Given the description of an element on the screen output the (x, y) to click on. 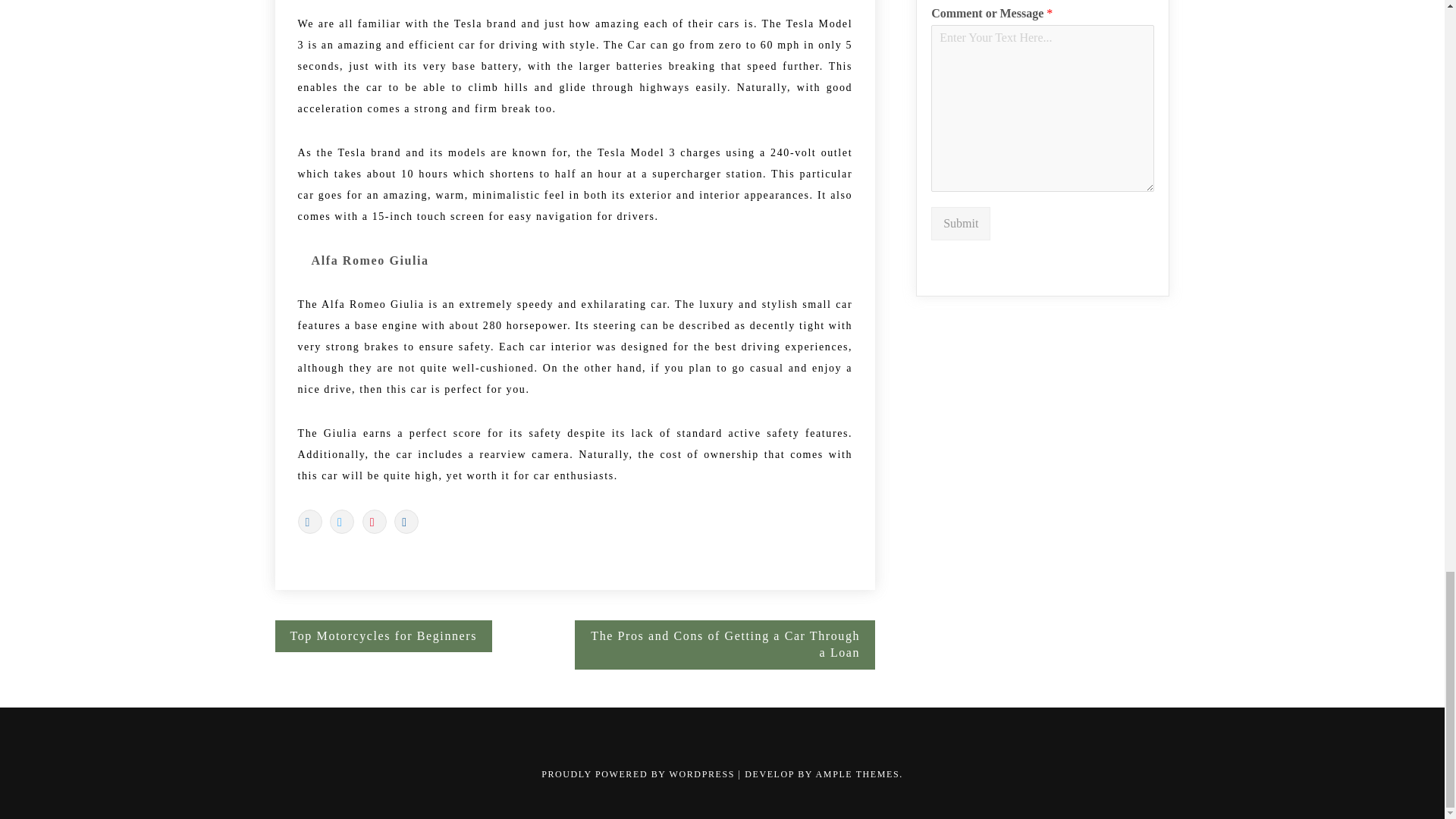
Top Motorcycles for Beginners (383, 635)
AMPLE THEMES (857, 774)
The Pros and Cons of Getting a Car Through a Loan (725, 644)
PROUDLY POWERED BY WORDPRESS (639, 774)
Submit (960, 223)
